Given the description of an element on the screen output the (x, y) to click on. 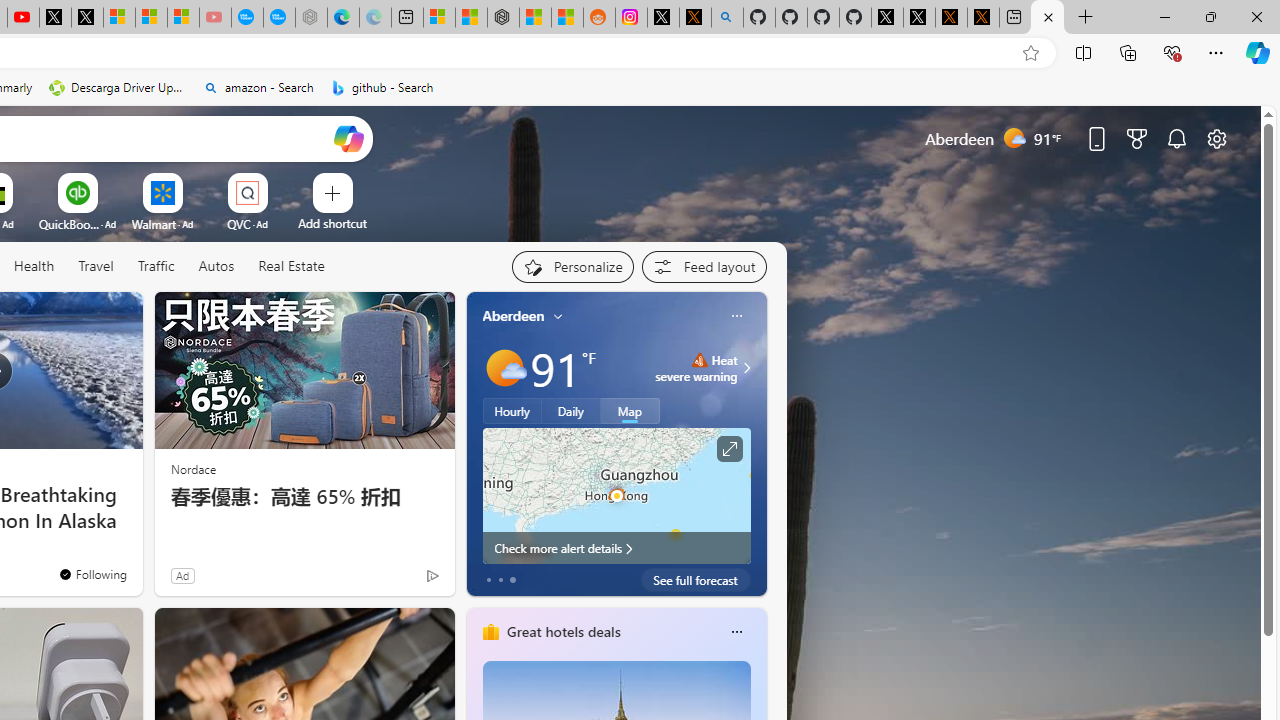
Aberdeen (513, 315)
Traffic (155, 265)
Daily (571, 411)
Nordace - Nordace has arrived Hong Kong - Sleeping (310, 17)
Health (33, 267)
Heat - Severe Heat severe warning (696, 367)
You're following The Weather Channel (92, 573)
My location (558, 315)
